Given the description of an element on the screen output the (x, y) to click on. 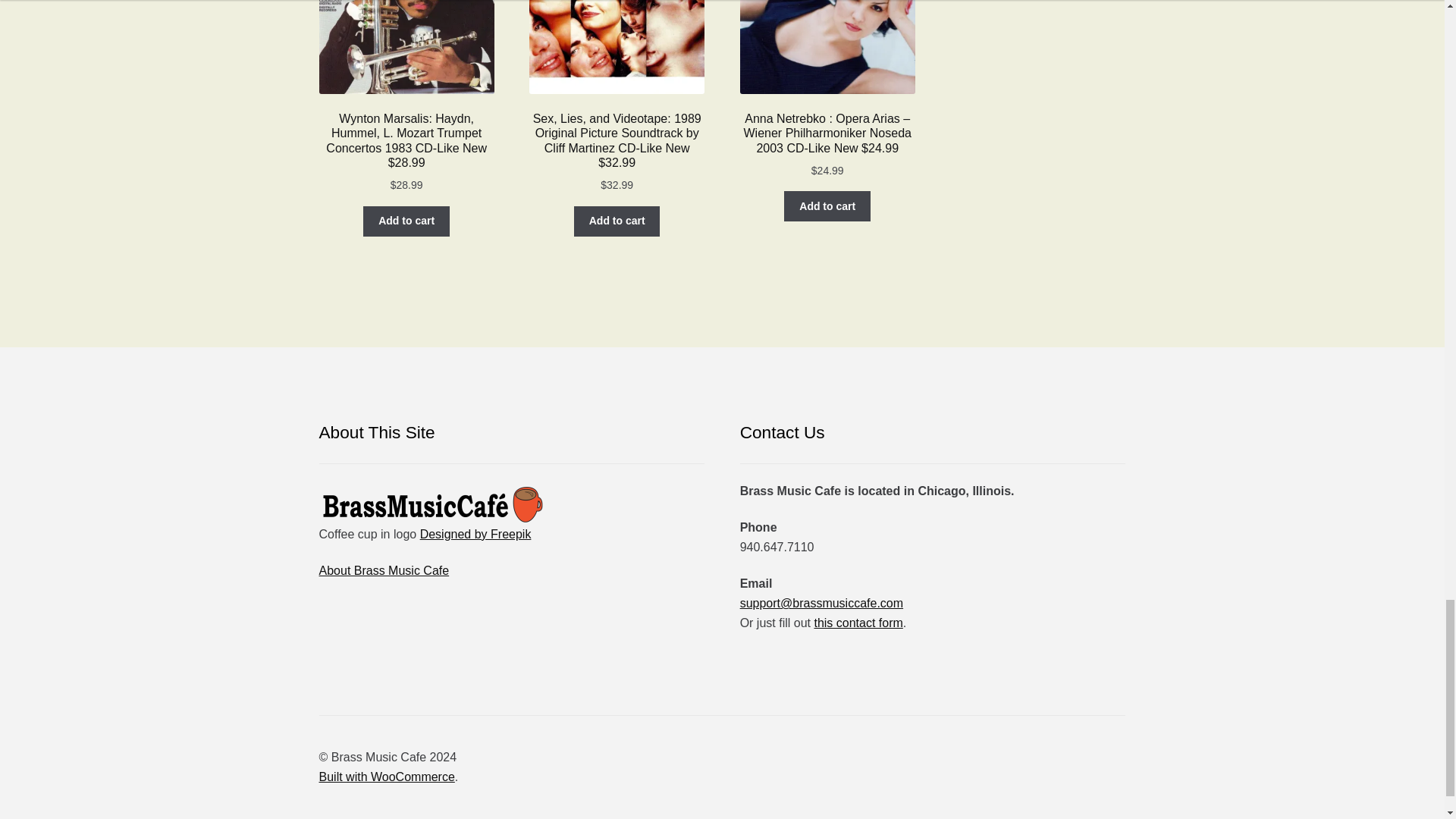
WooCommerce - The Best eCommerce Platform for WordPress (386, 776)
